Given the description of an element on the screen output the (x, y) to click on. 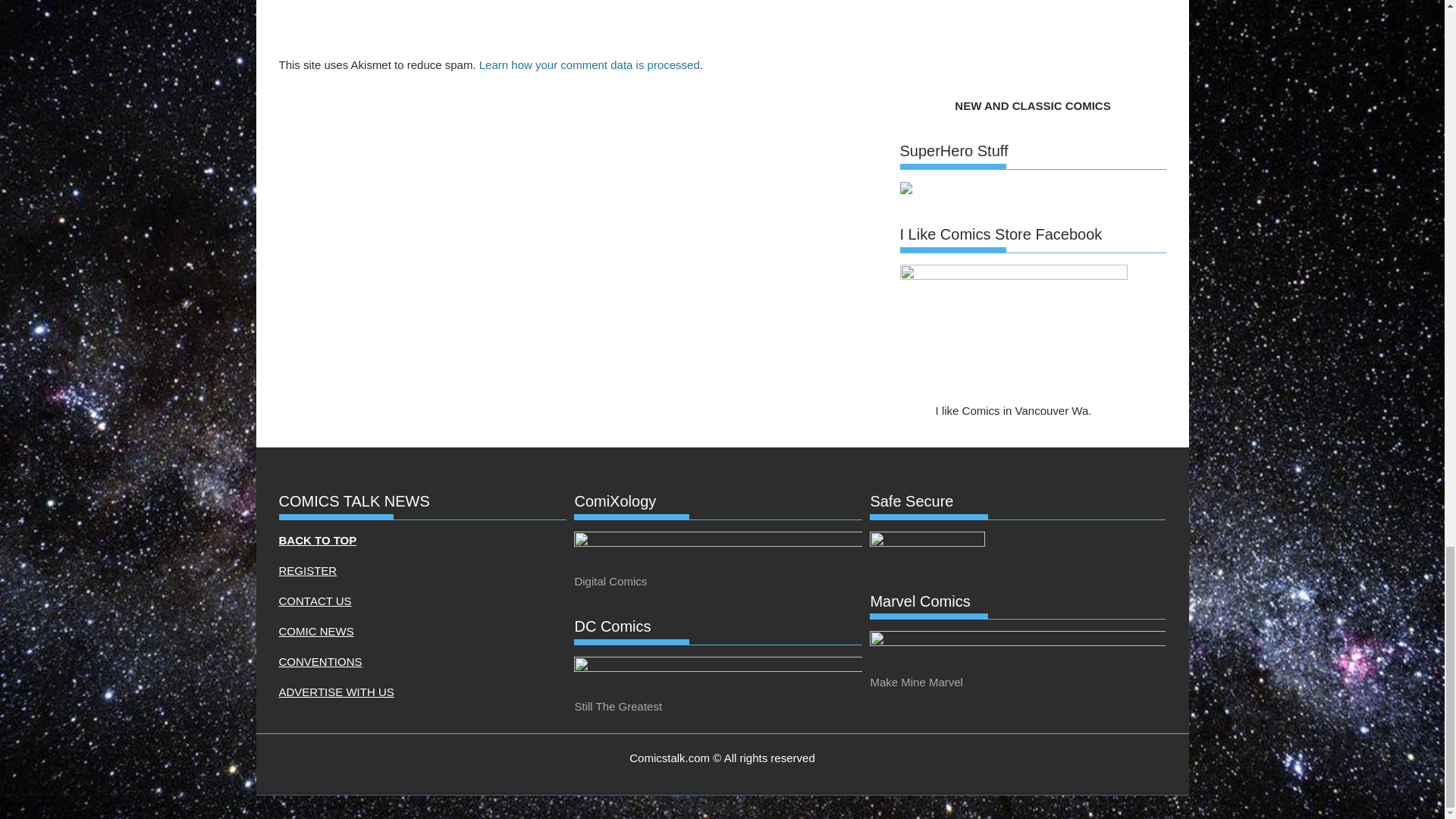
Comment Form (580, 25)
